Given the description of an element on the screen output the (x, y) to click on. 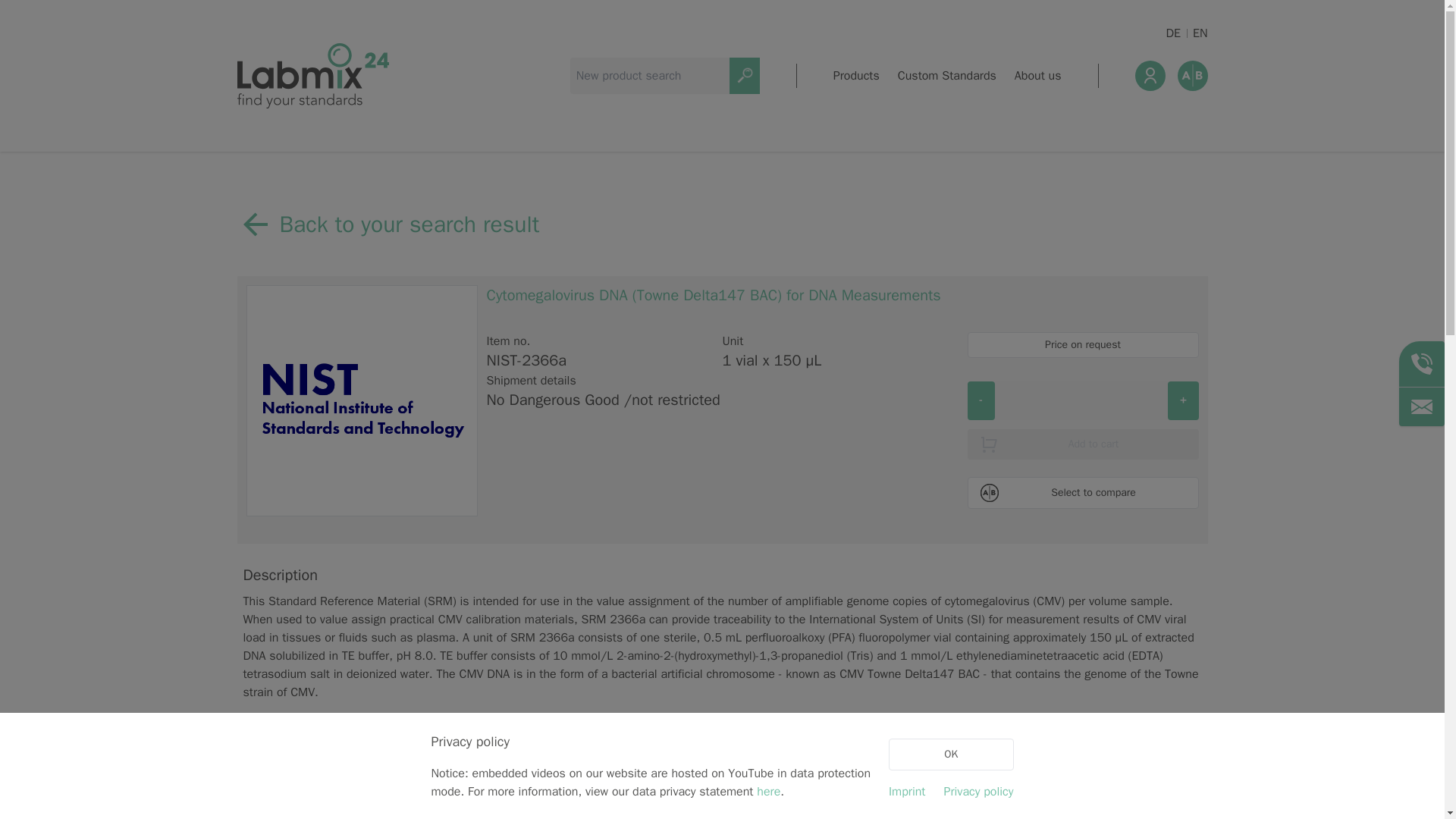
EN (1200, 32)
Product comparison (1191, 75)
Add NIST-2366a to cart (1083, 444)
Products (855, 75)
User menu (1149, 75)
DE (1173, 32)
